Given the description of an element on the screen output the (x, y) to click on. 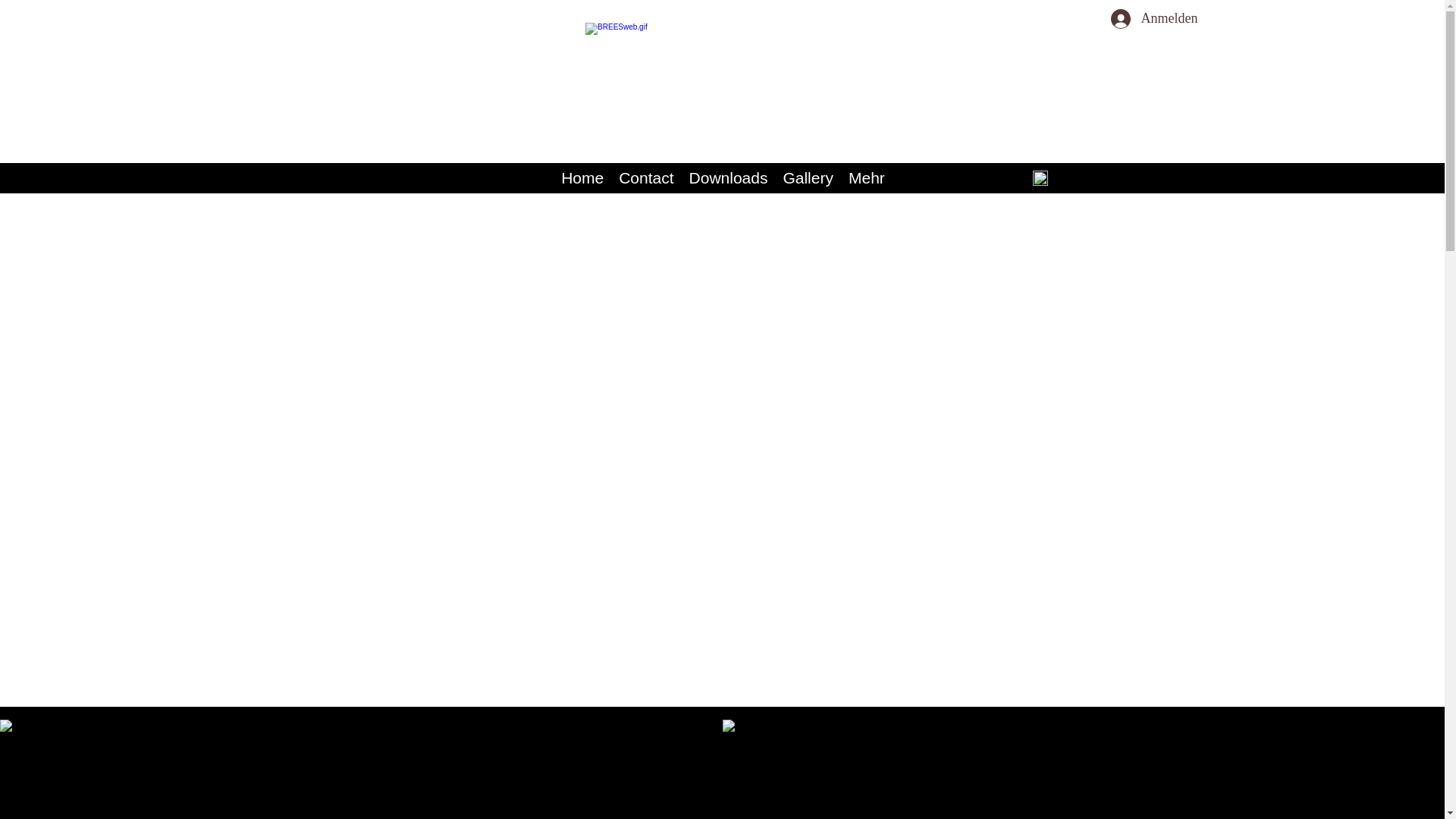
Home Element type: text (582, 177)
Gallery Element type: text (807, 177)
Anmelden Element type: text (1144, 18)
Downloads Element type: text (728, 177)
Contact Element type: text (645, 177)
